Given the description of an element on the screen output the (x, y) to click on. 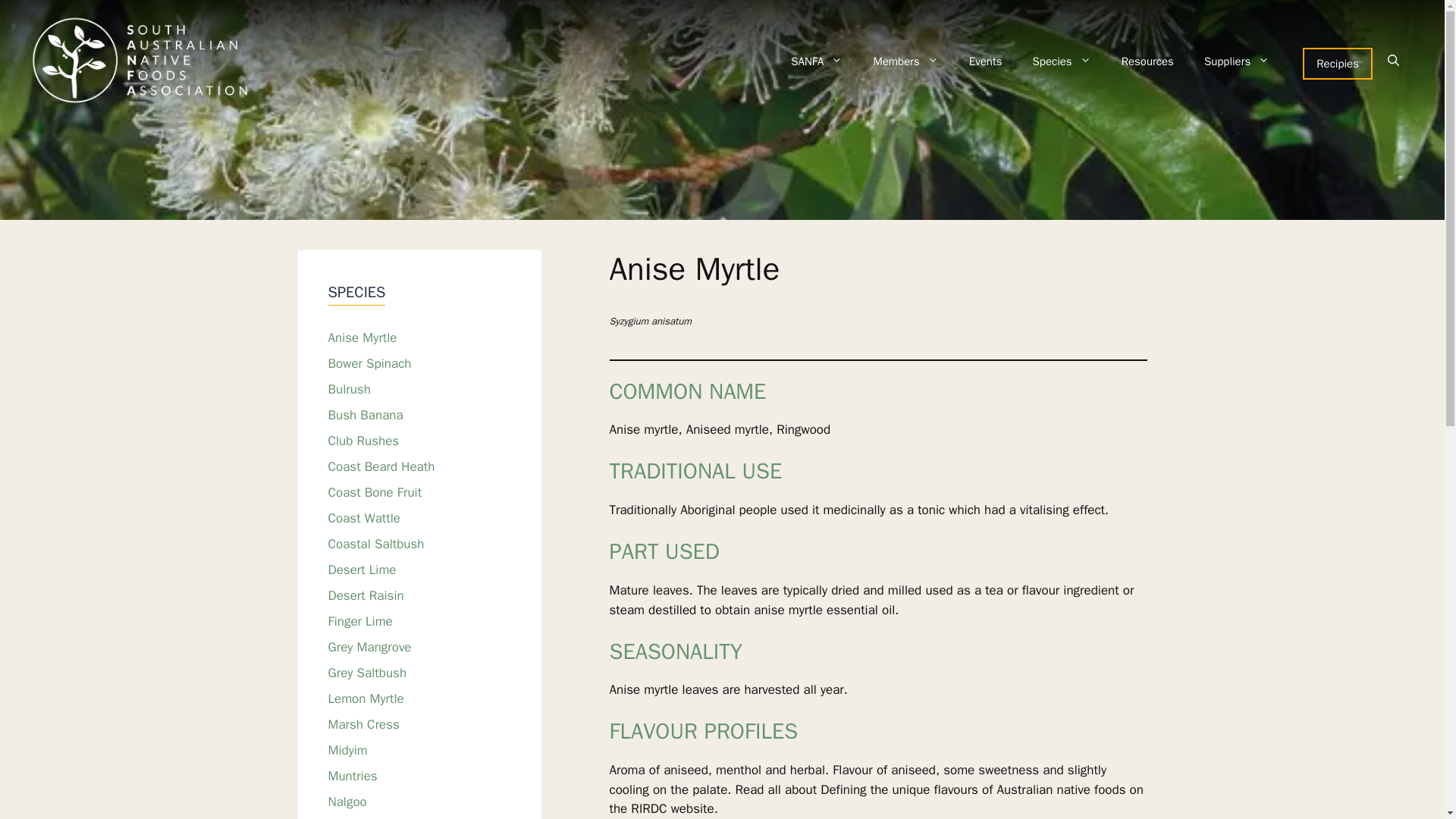
Species (1061, 61)
Events (985, 61)
Members (905, 61)
SANFA (816, 61)
